Given the description of an element on the screen output the (x, y) to click on. 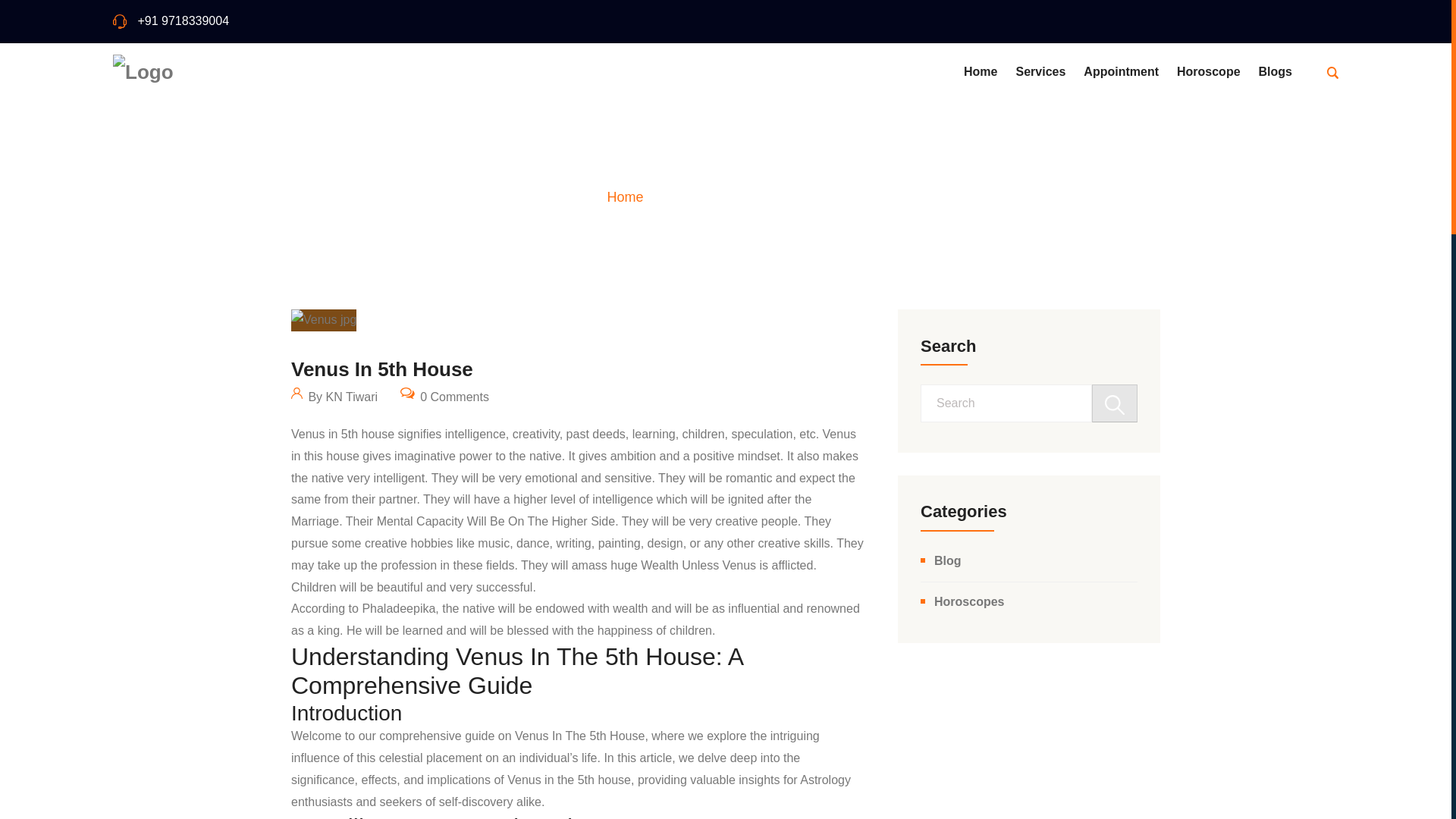
Mental Capacity Will Be On The Higher Side (496, 521)
Home (625, 196)
Venus In 5th House (382, 368)
Horoscope (1208, 72)
Astrology (824, 779)
Marriage (315, 521)
Wealth Unless Venus (697, 564)
0 Comments (444, 394)
Venus In The 5th House (580, 735)
Appointment (1120, 72)
